Given the description of an element on the screen output the (x, y) to click on. 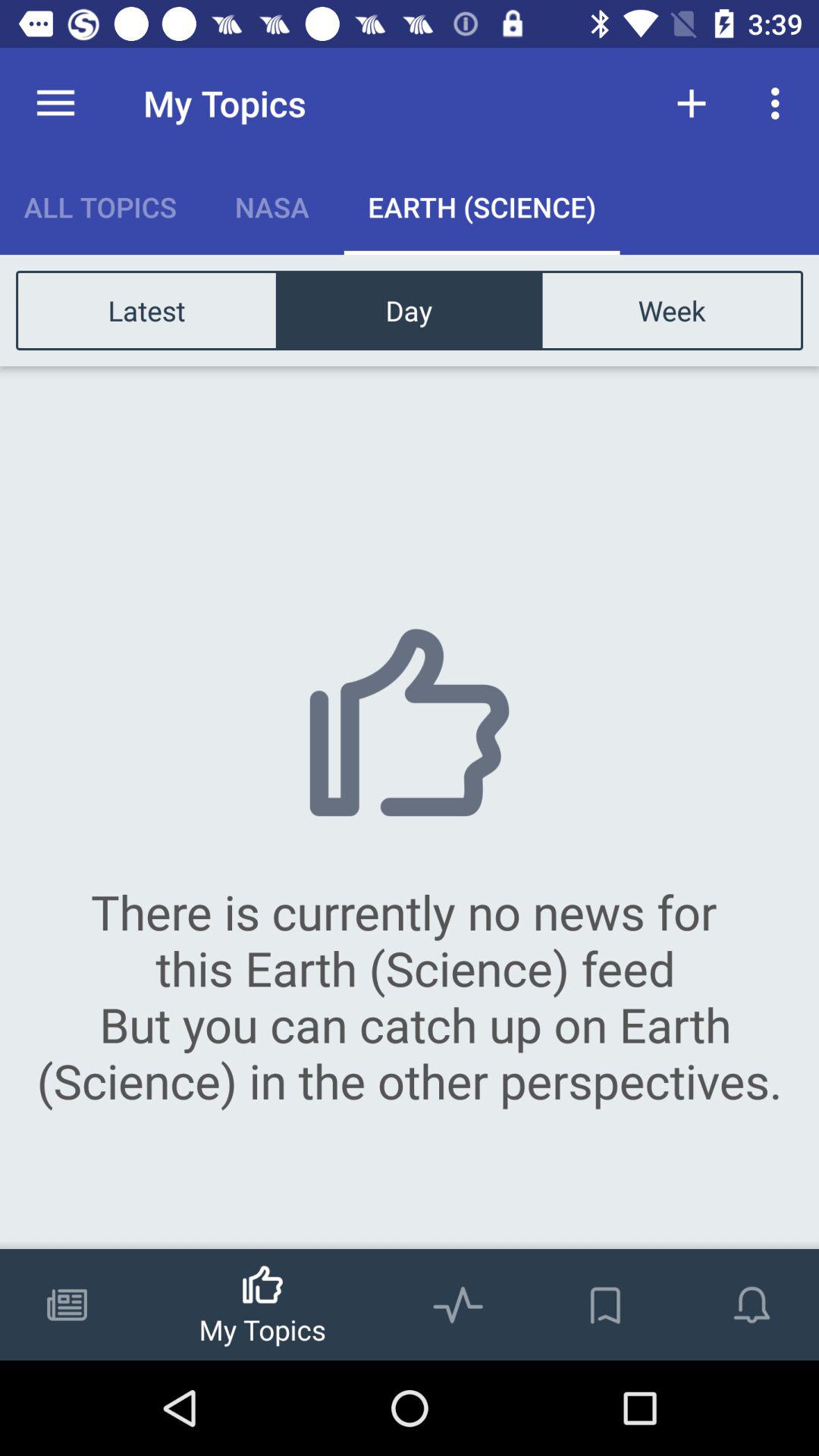
launch the icon next to week (409, 310)
